Given the description of an element on the screen output the (x, y) to click on. 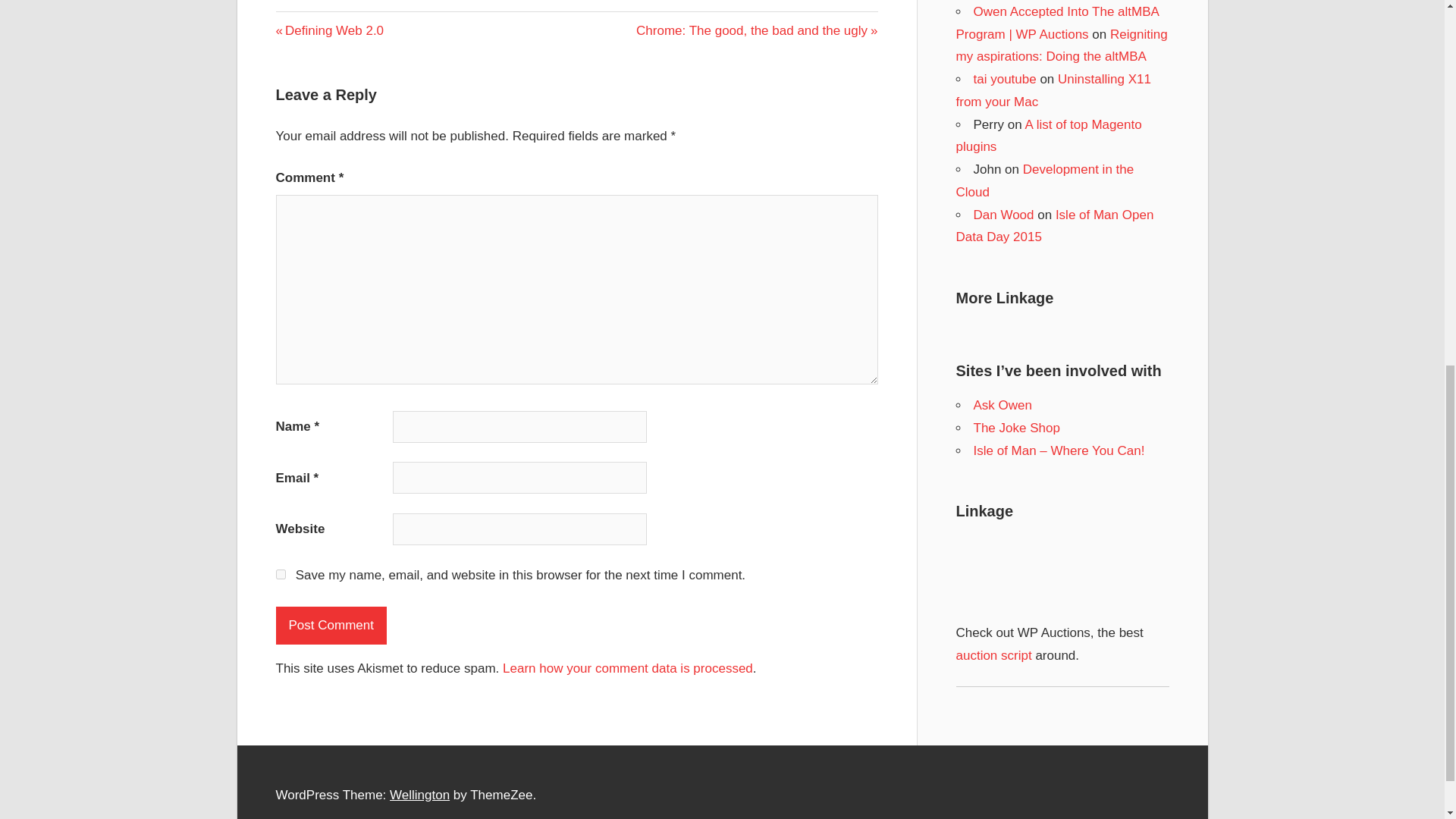
Isle of Man Open Data Day 2015 (1054, 226)
Wellington WordPress Theme (419, 794)
yes (280, 574)
Ask Owen (330, 30)
Development in the Cloud (1003, 405)
tai youtube (1044, 180)
Uninstalling X11 from your Mac (1005, 79)
Wellington (1052, 90)
Reigniting my aspirations: Doing the altMBA (419, 794)
